Given the description of an element on the screen output the (x, y) to click on. 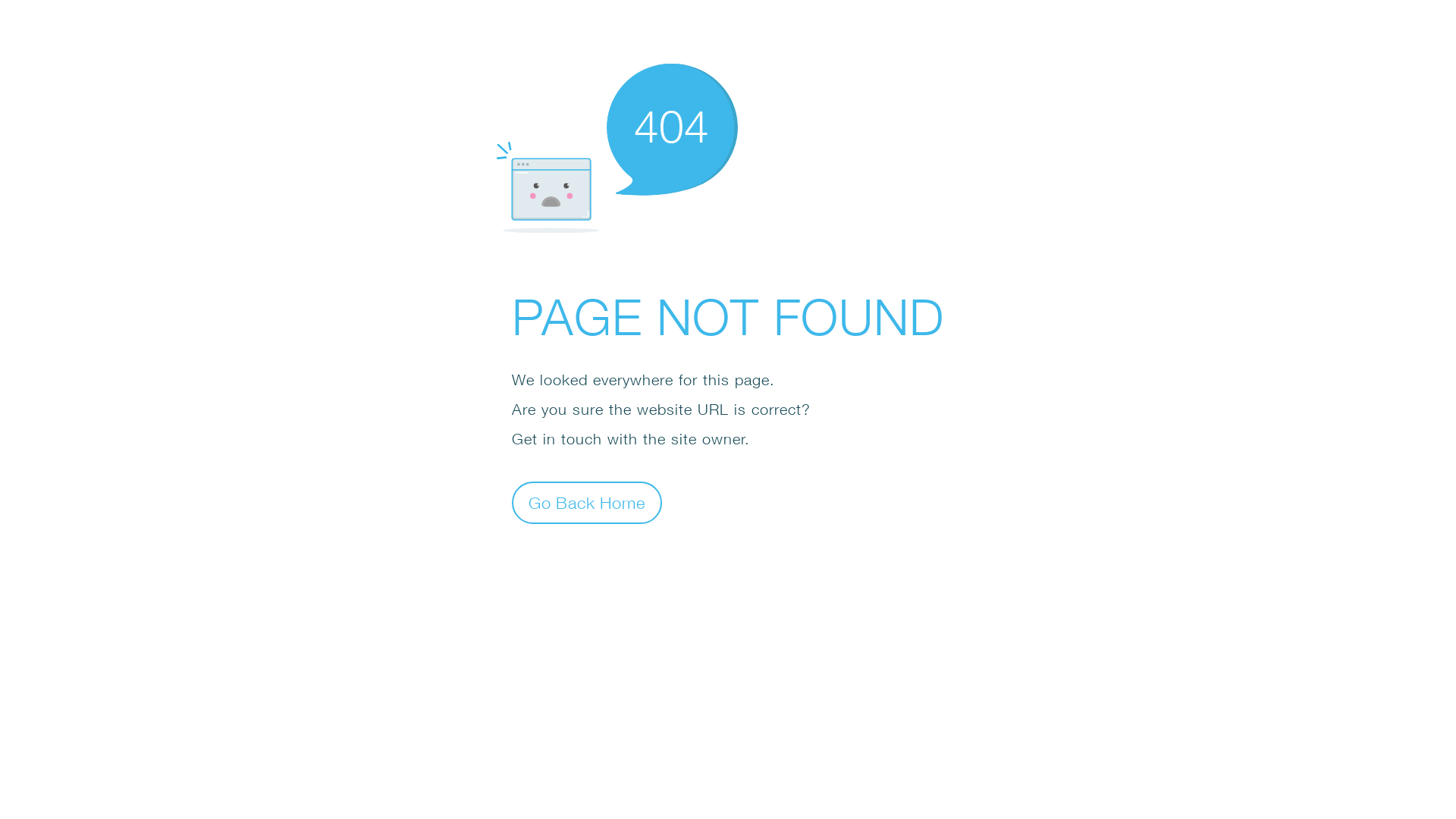
Go Back Home Element type: text (586, 502)
